Given the description of an element on the screen output the (x, y) to click on. 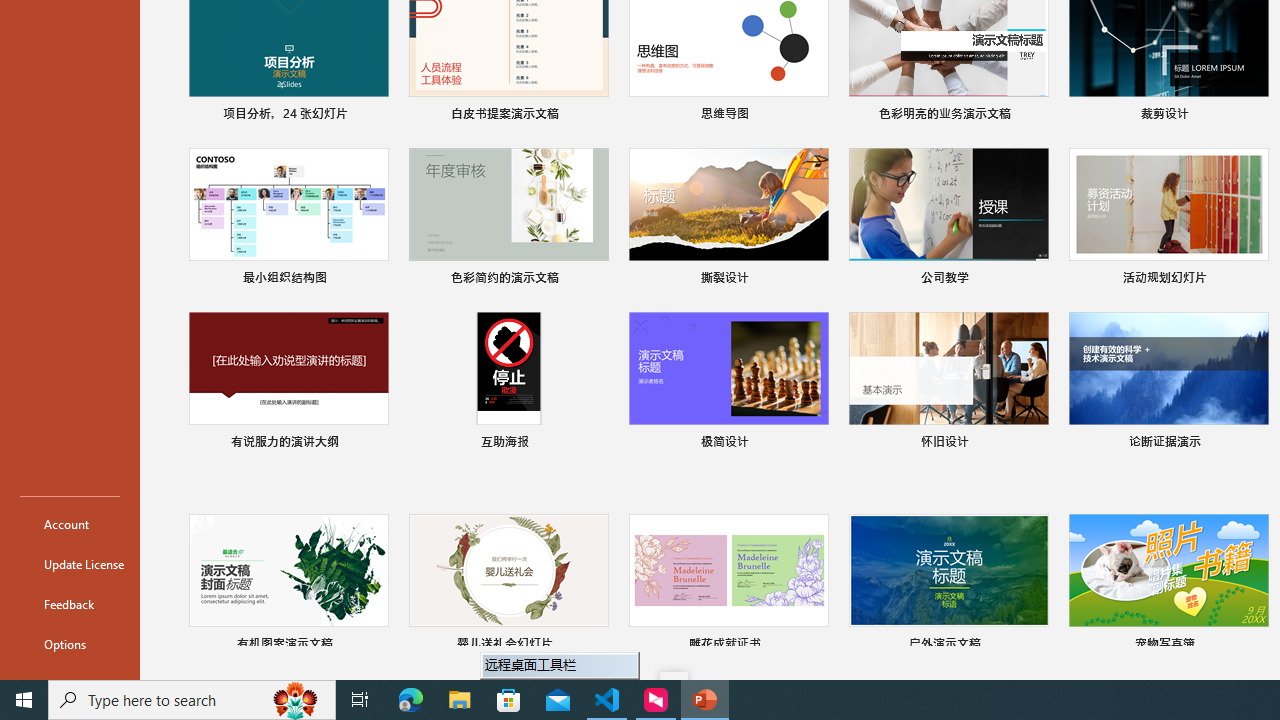
Update License (69, 563)
Feedback (69, 603)
Pin to list (1255, 645)
Options (69, 643)
